Given the description of an element on the screen output the (x, y) to click on. 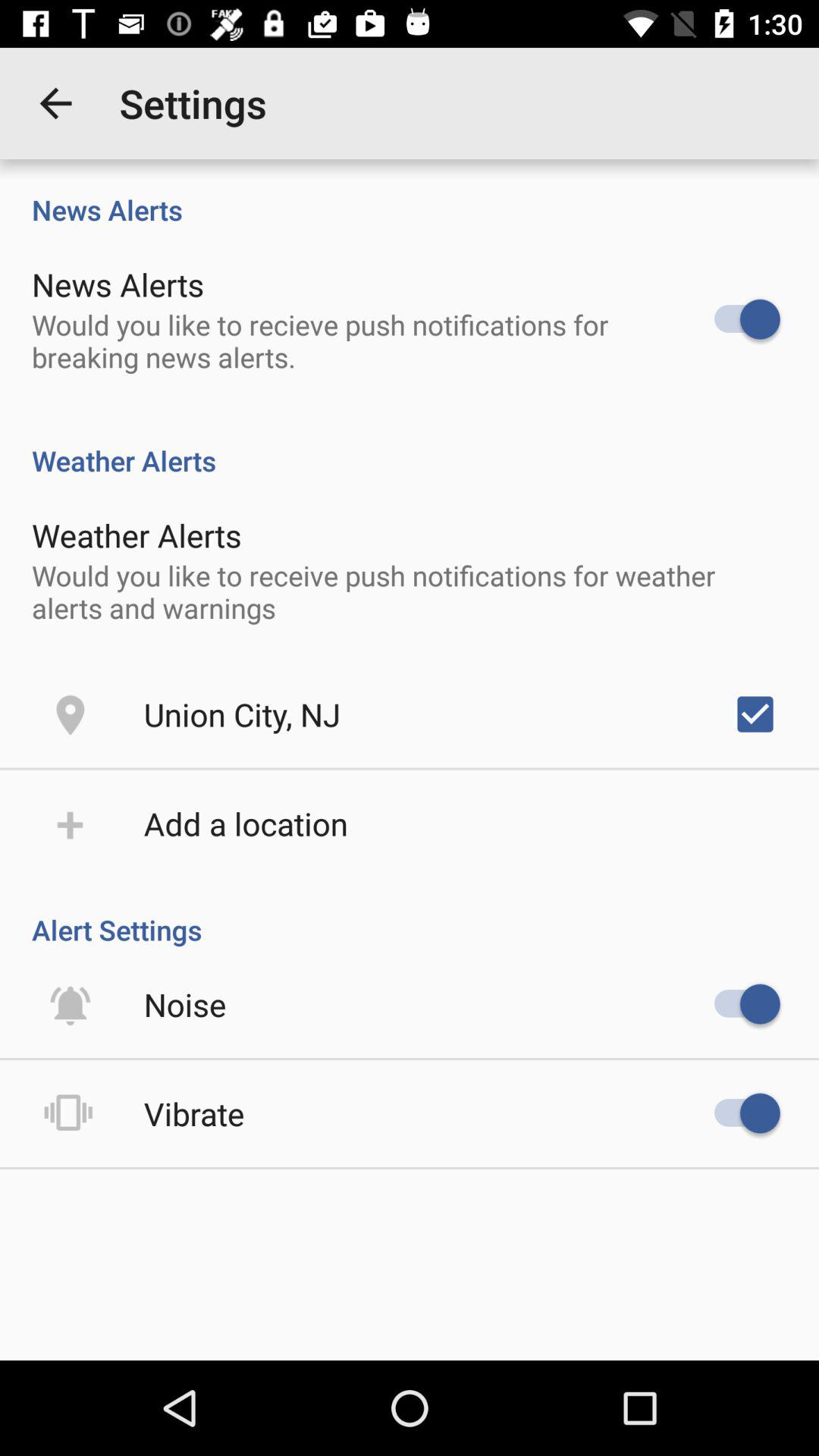
jump until alert settings (409, 913)
